Given the description of an element on the screen output the (x, y) to click on. 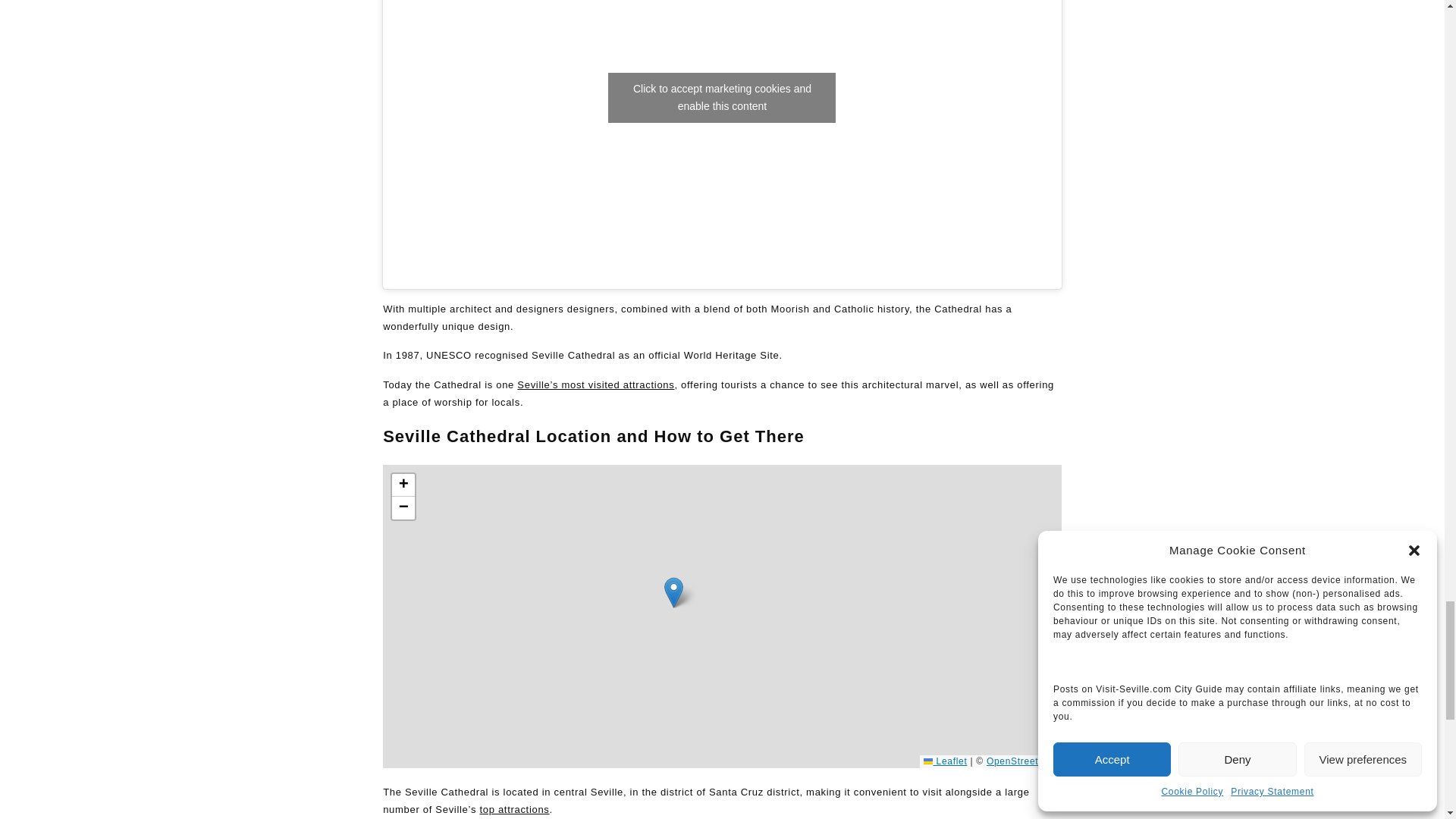
Zoom in (402, 485)
Zoom out (402, 507)
A JavaScript library for interactive maps (944, 760)
